Given the description of an element on the screen output the (x, y) to click on. 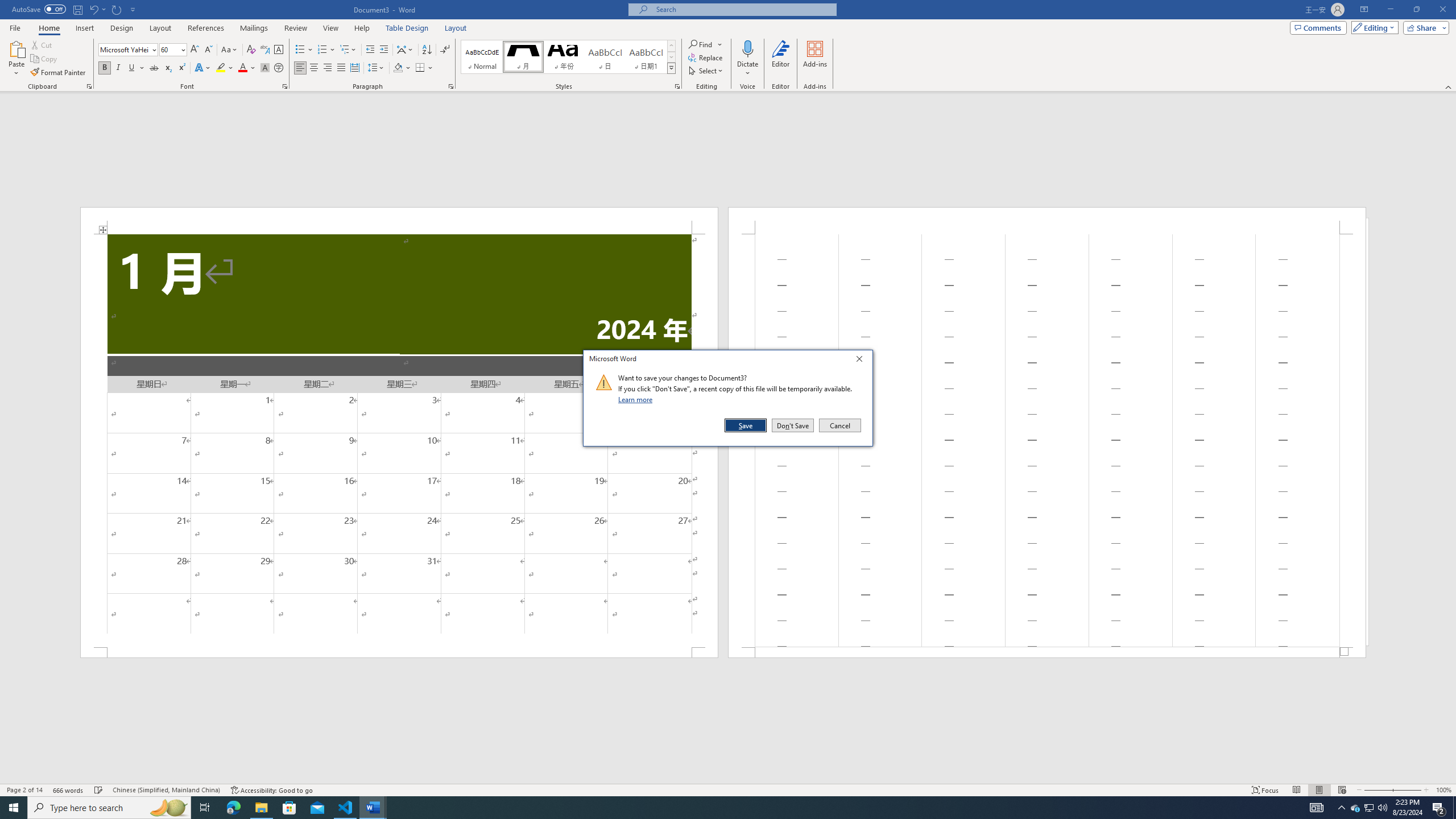
Mailings (253, 28)
Font... (285, 85)
Type here to search (108, 807)
Zoom Out (1377, 790)
Font Color RGB(255, 0, 0) (241, 67)
Font Size (172, 49)
Shading (402, 67)
Office Clipboard... (88, 85)
Start (13, 807)
Collapse the Ribbon (1448, 86)
Microsoft Store (289, 807)
Class: NetUIScrollBar (728, 778)
